Given the description of an element on the screen output the (x, y) to click on. 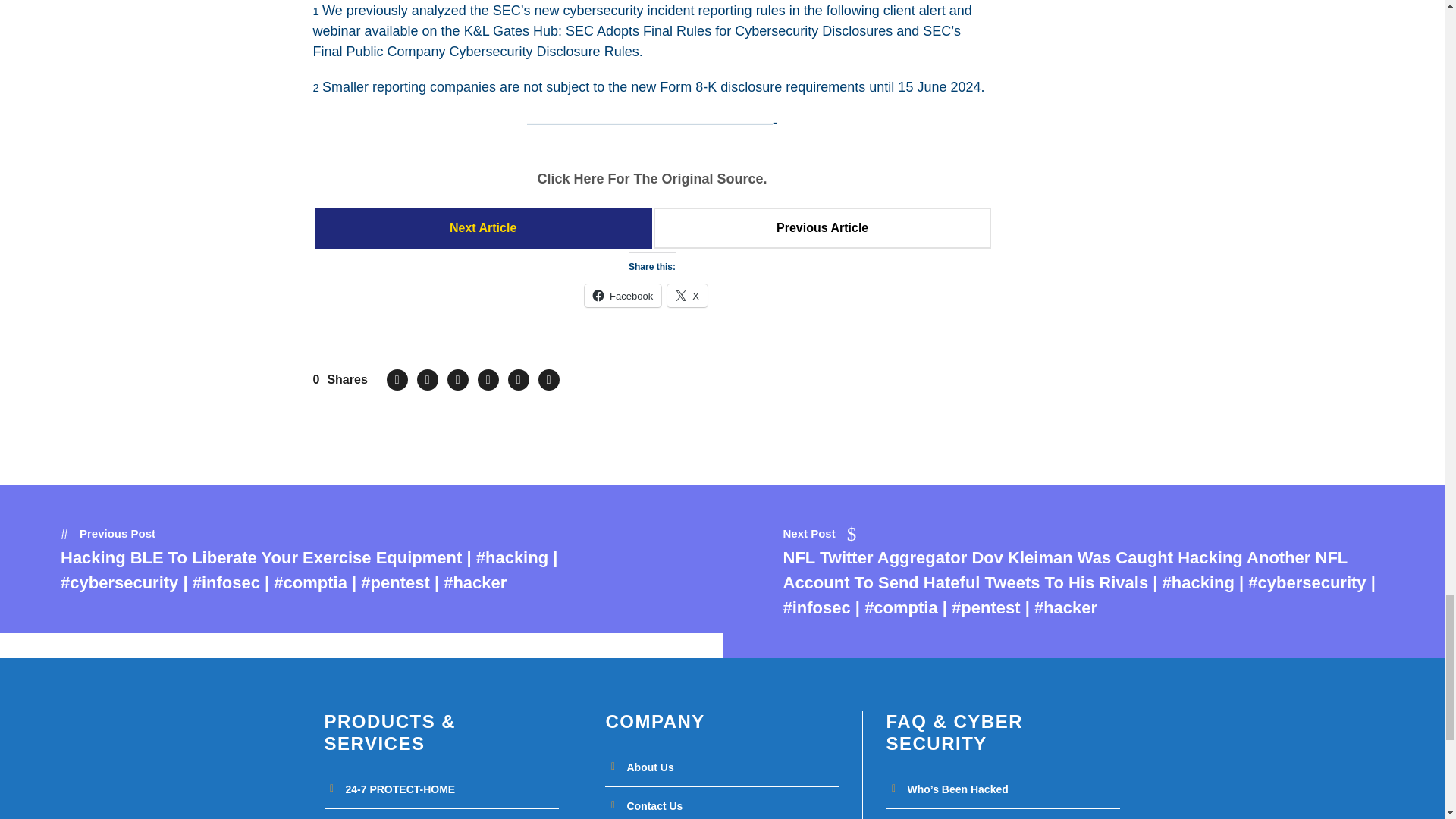
Click to share on X (686, 295)
Click to share on Facebook (623, 295)
